Given the description of an element on the screen output the (x, y) to click on. 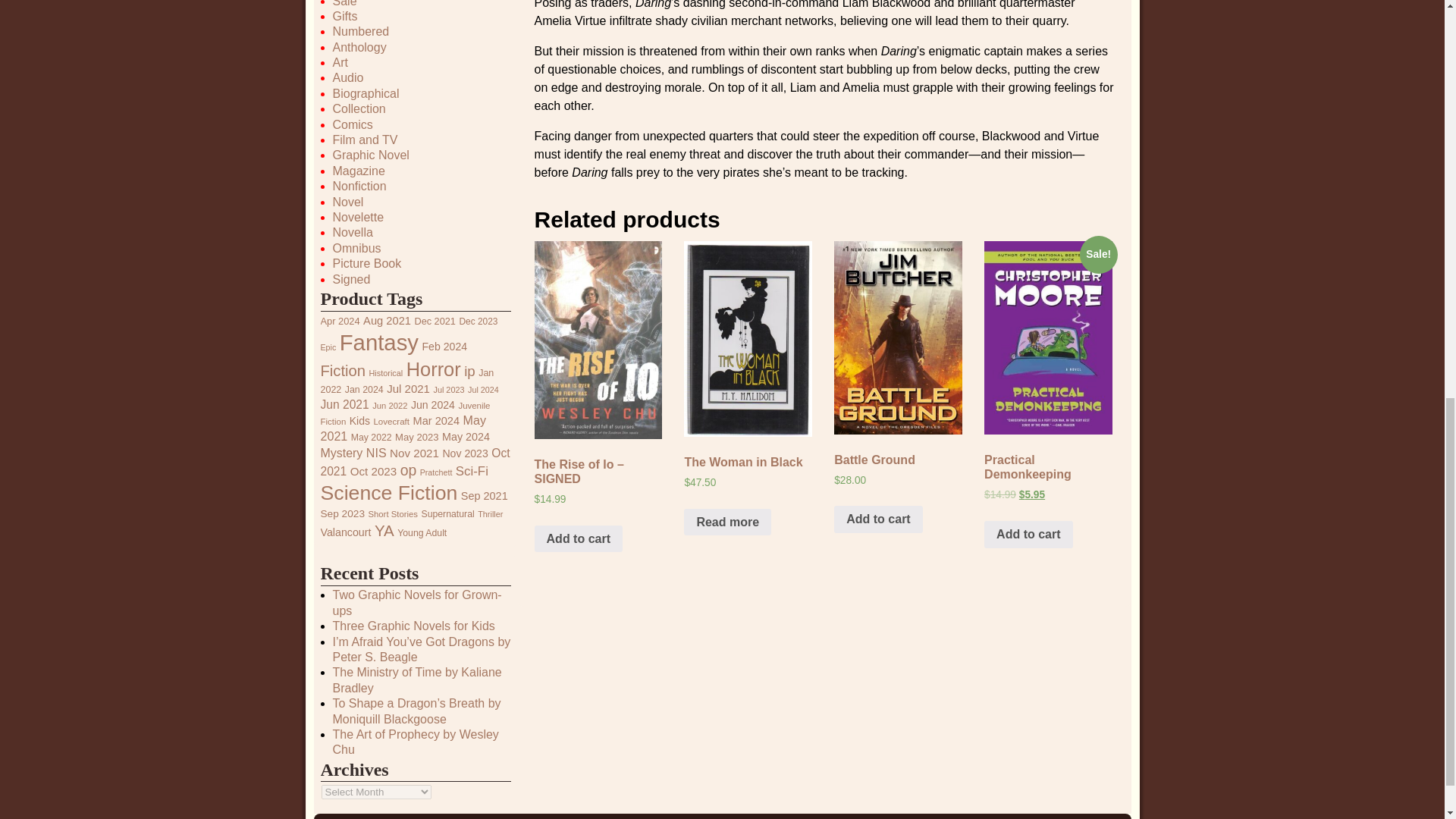
Add to cart (877, 519)
Add to cart (578, 538)
Read more (727, 522)
Add to cart (1027, 533)
